Given the description of an element on the screen output the (x, y) to click on. 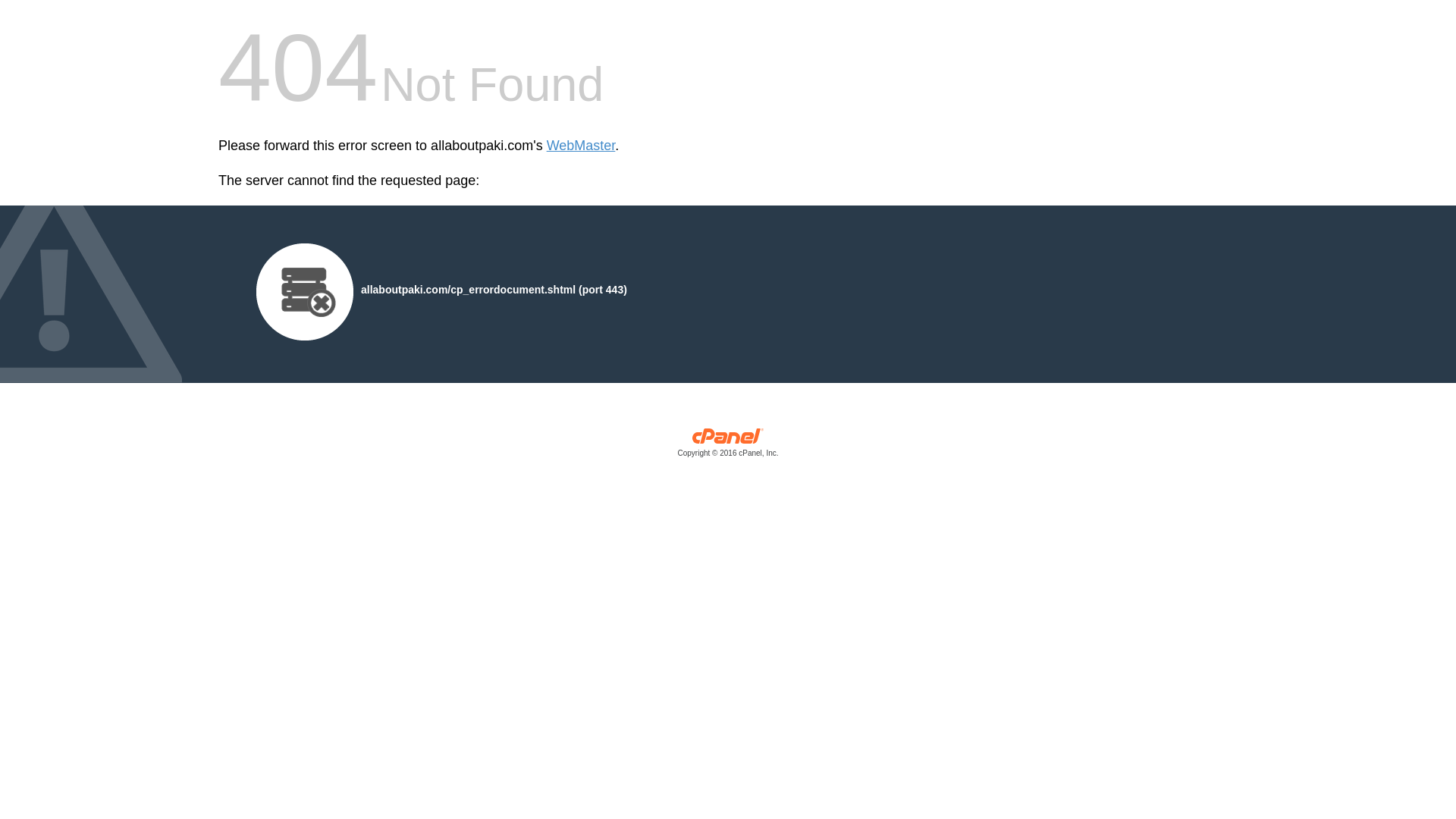
cPanel, Inc. (727, 446)
WebMaster (581, 145)
